Given the description of an element on the screen output the (x, y) to click on. 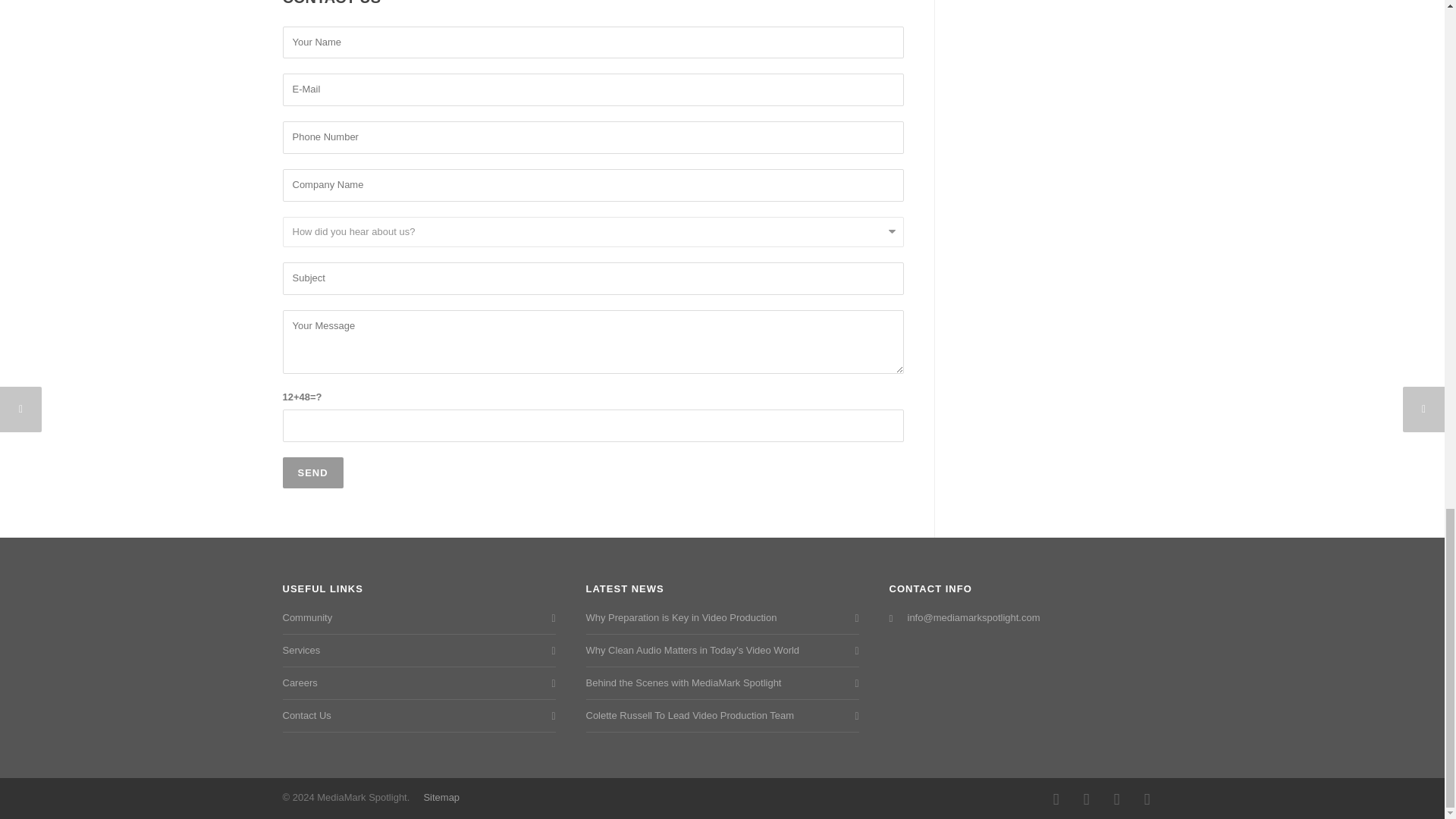
LinkedIn (1115, 798)
Send (312, 472)
Instagram (1085, 798)
Facebook (1055, 798)
